Given the description of an element on the screen output the (x, y) to click on. 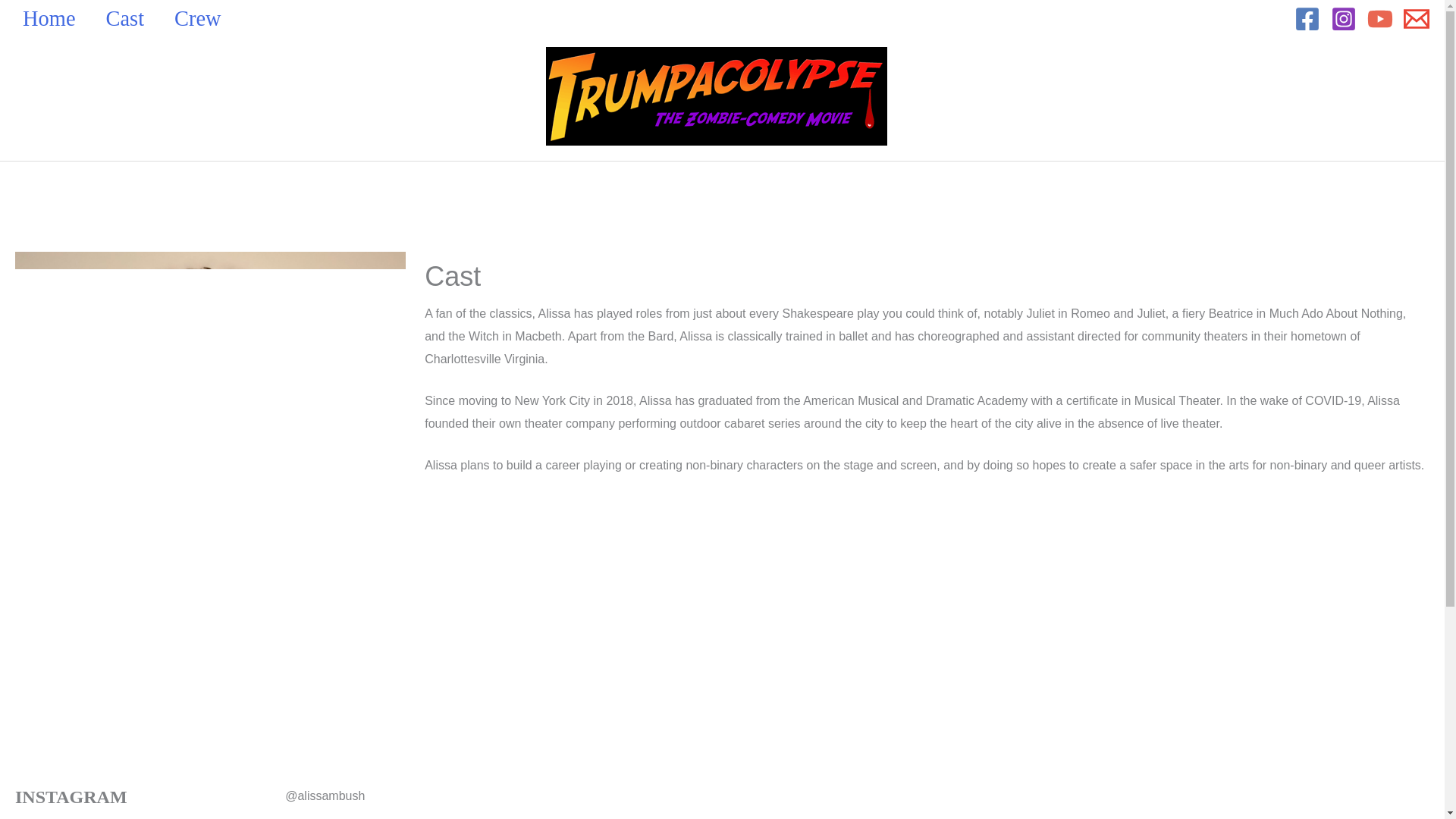
Cast (133, 18)
Crew (205, 18)
Home (56, 18)
